Given the description of an element on the screen output the (x, y) to click on. 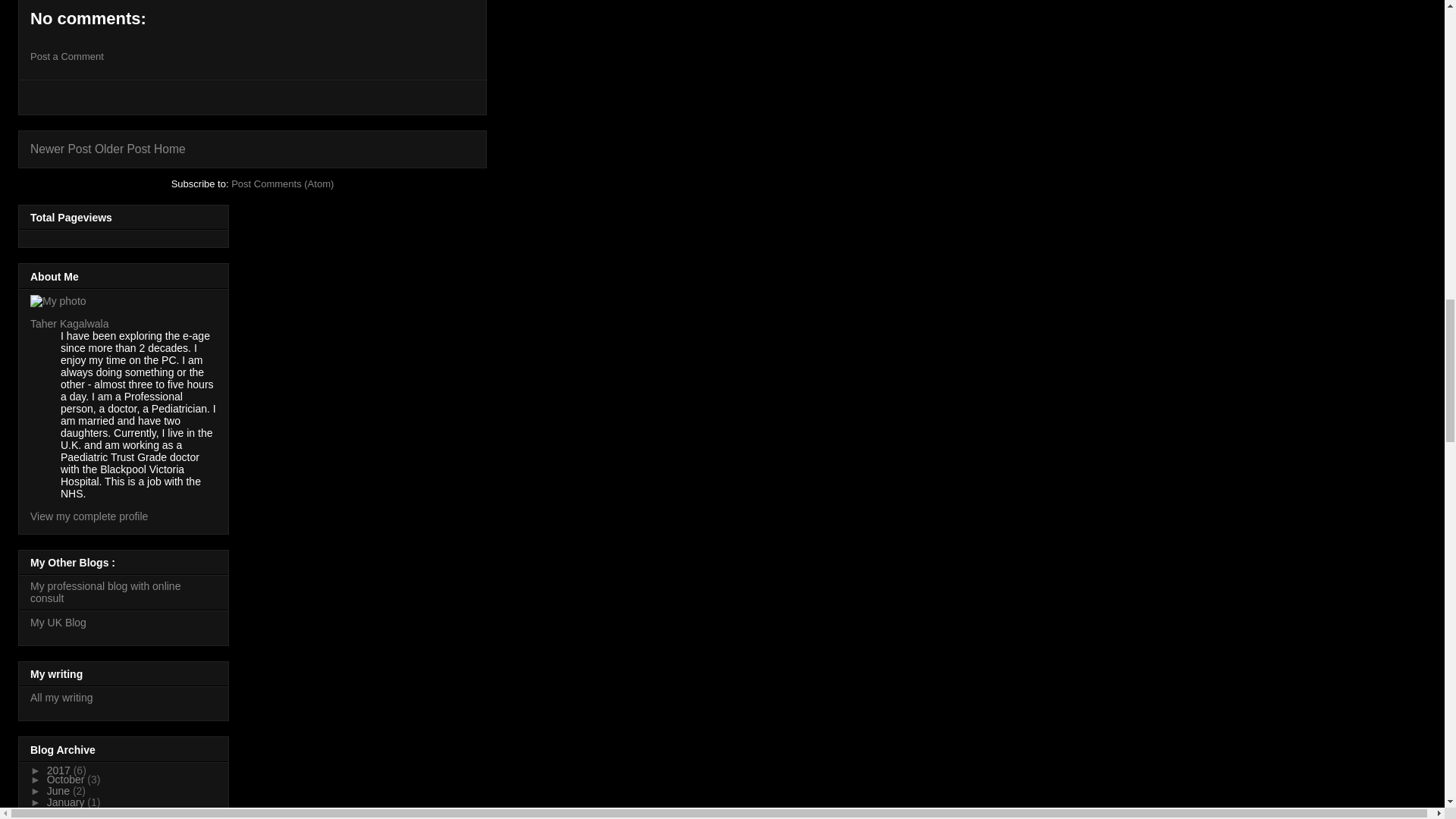
View my complete profile (89, 516)
January (66, 802)
Taher Kagalwala (69, 323)
October (66, 779)
Newer Post (60, 148)
Post a Comment (66, 56)
All my writing (61, 697)
My UK Blog (57, 622)
2016 (60, 814)
My professional blog with online consult (105, 591)
Older Post (122, 148)
Older Post (122, 148)
Home (170, 148)
Newer Post (60, 148)
June (59, 790)
